Given the description of an element on the screen output the (x, y) to click on. 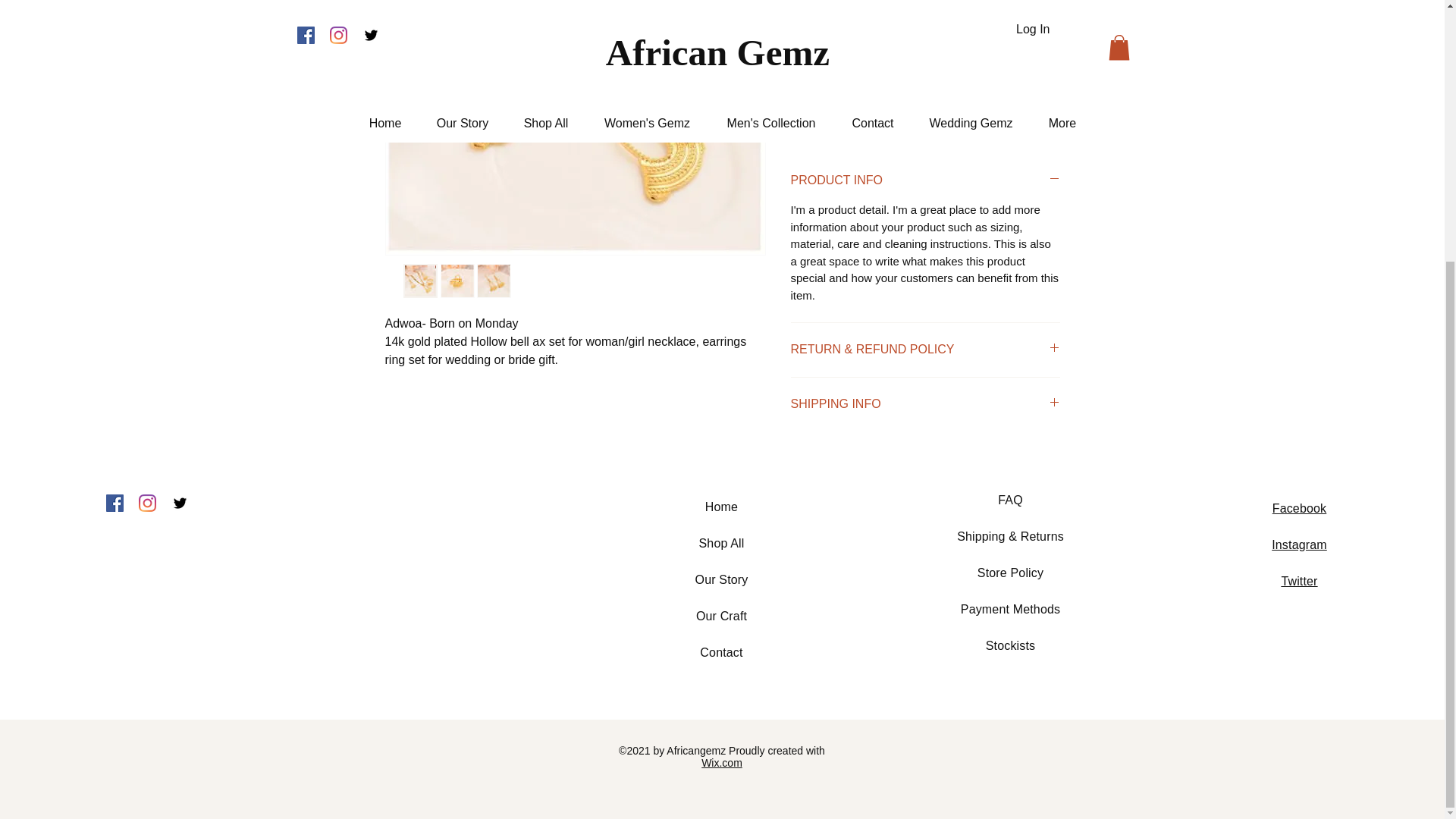
Add to Cart (906, 79)
Stockists (1010, 645)
Payment Methods (1009, 608)
Shop All (721, 543)
PRODUCT INFO (924, 180)
Contact (721, 652)
Our Story (721, 579)
Our Craft (720, 615)
SHIPPING INFO (924, 403)
1 (823, 20)
